Given the description of an element on the screen output the (x, y) to click on. 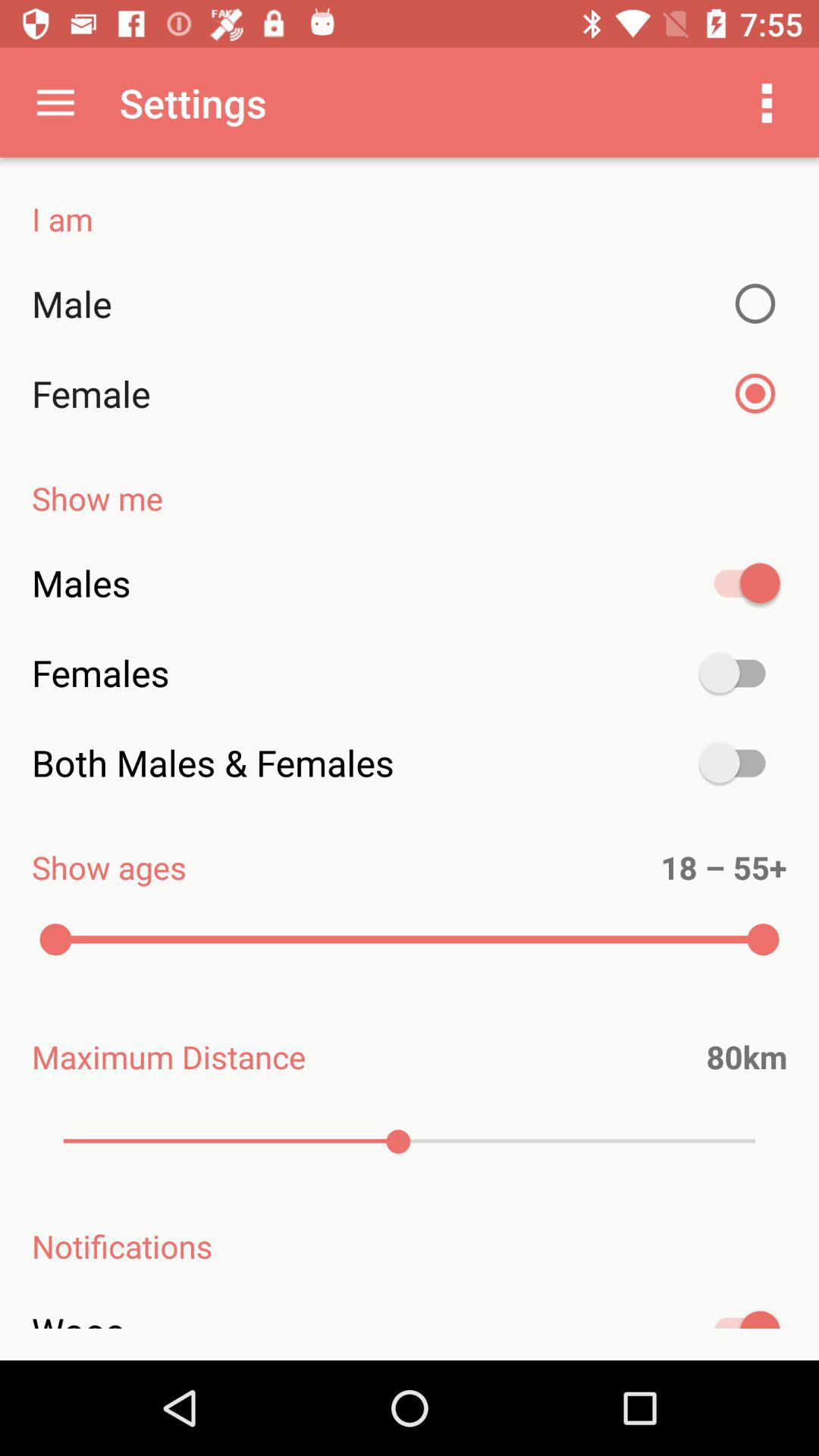
toggle menu options (767, 102)
